Given the description of an element on the screen output the (x, y) to click on. 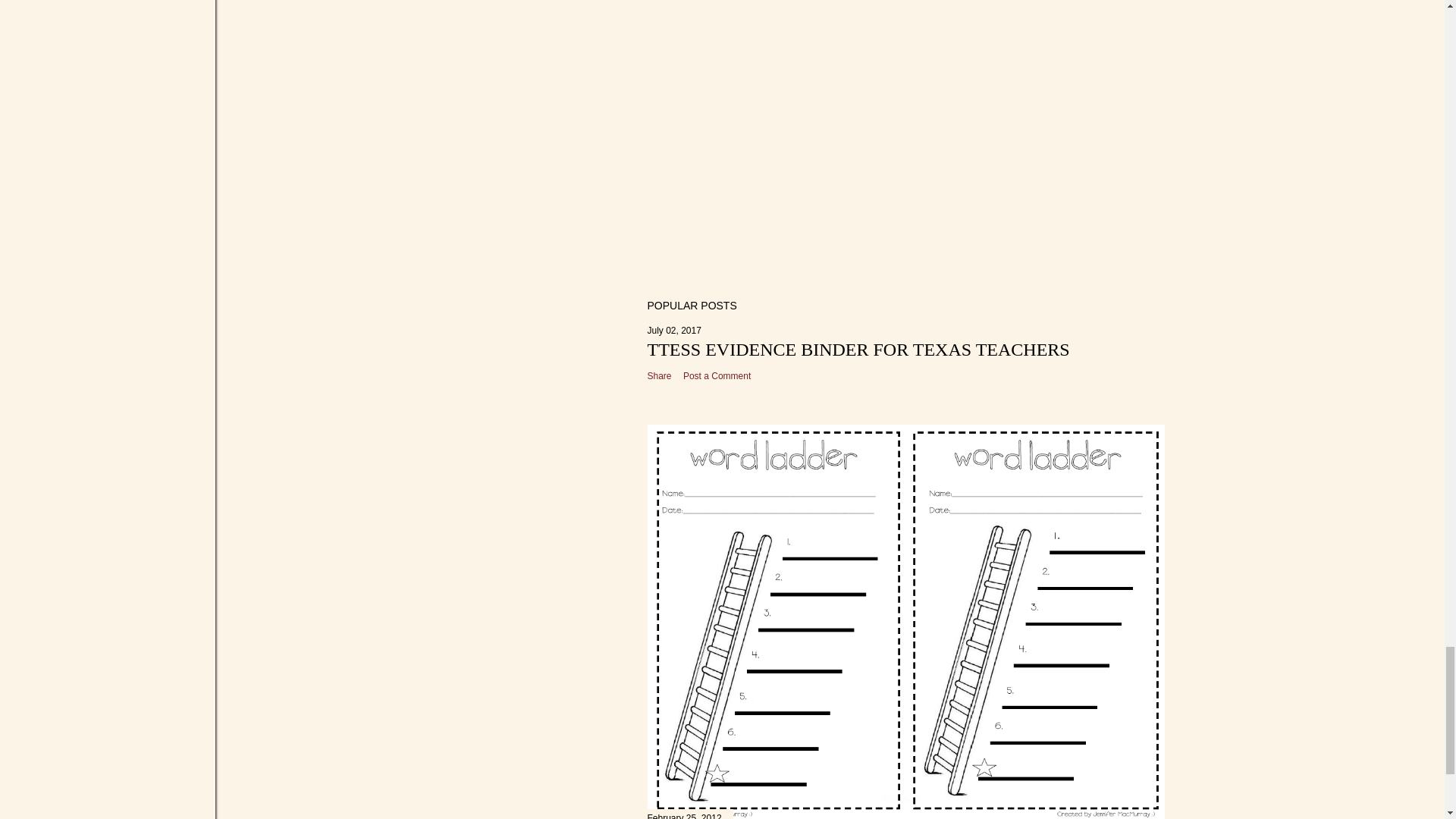
permanent link (674, 330)
